Given the description of an element on the screen output the (x, y) to click on. 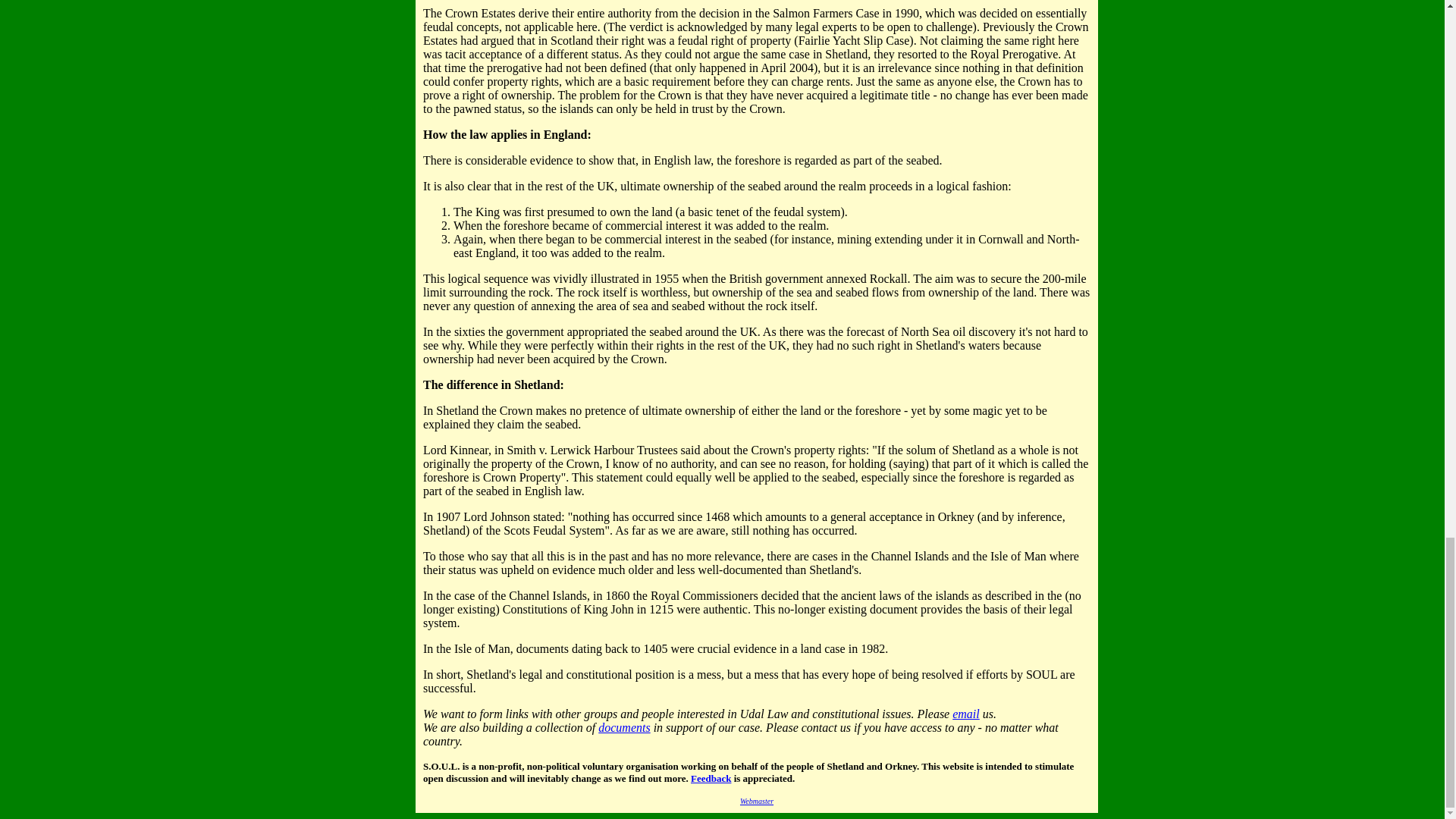
email (965, 713)
Feedback (710, 778)
documents (623, 727)
Webmaster (756, 800)
